Given the description of an element on the screen output the (x, y) to click on. 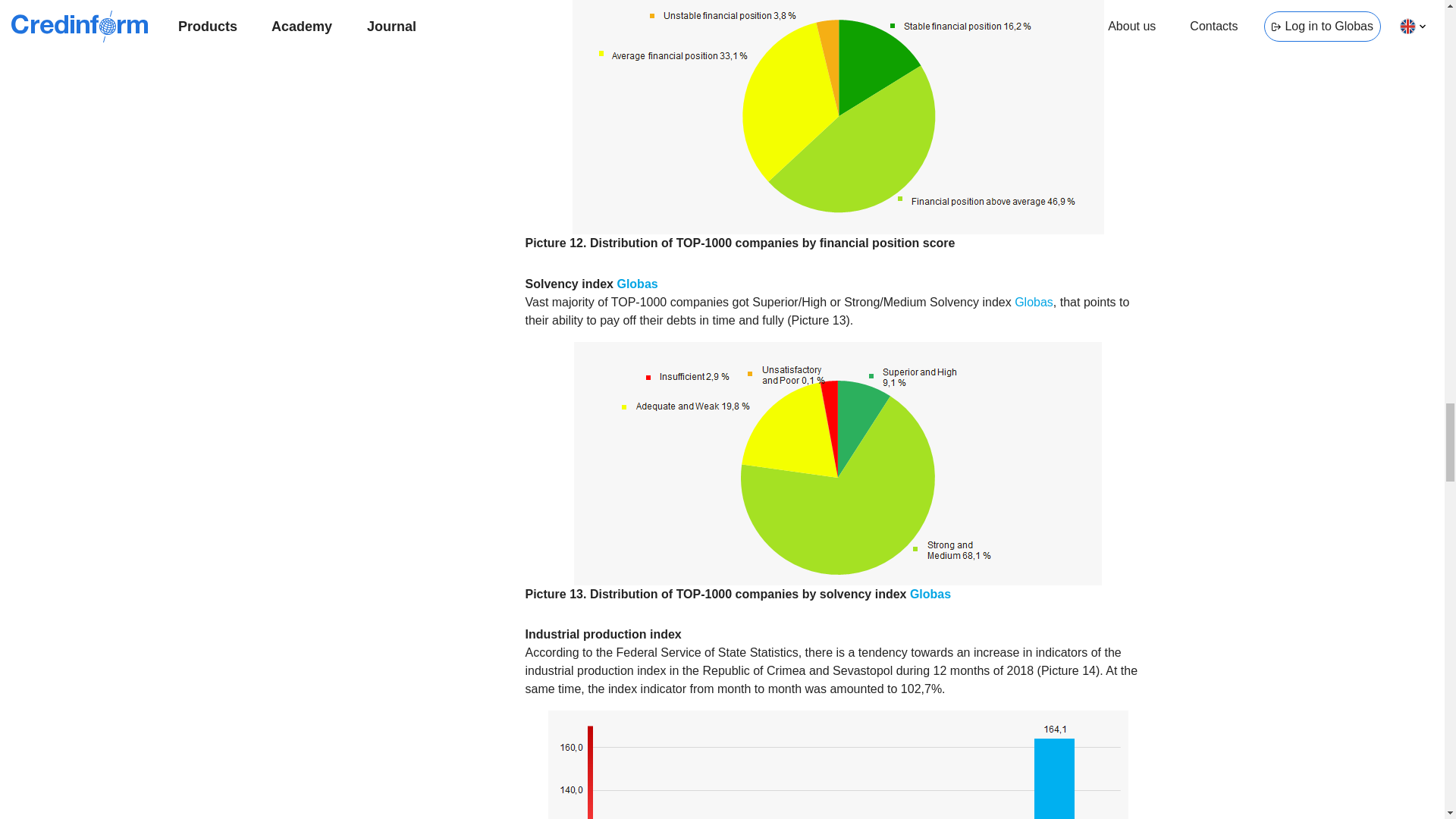
Globas (930, 594)
Globas (636, 283)
Globas (1033, 301)
